Given the description of an element on the screen output the (x, y) to click on. 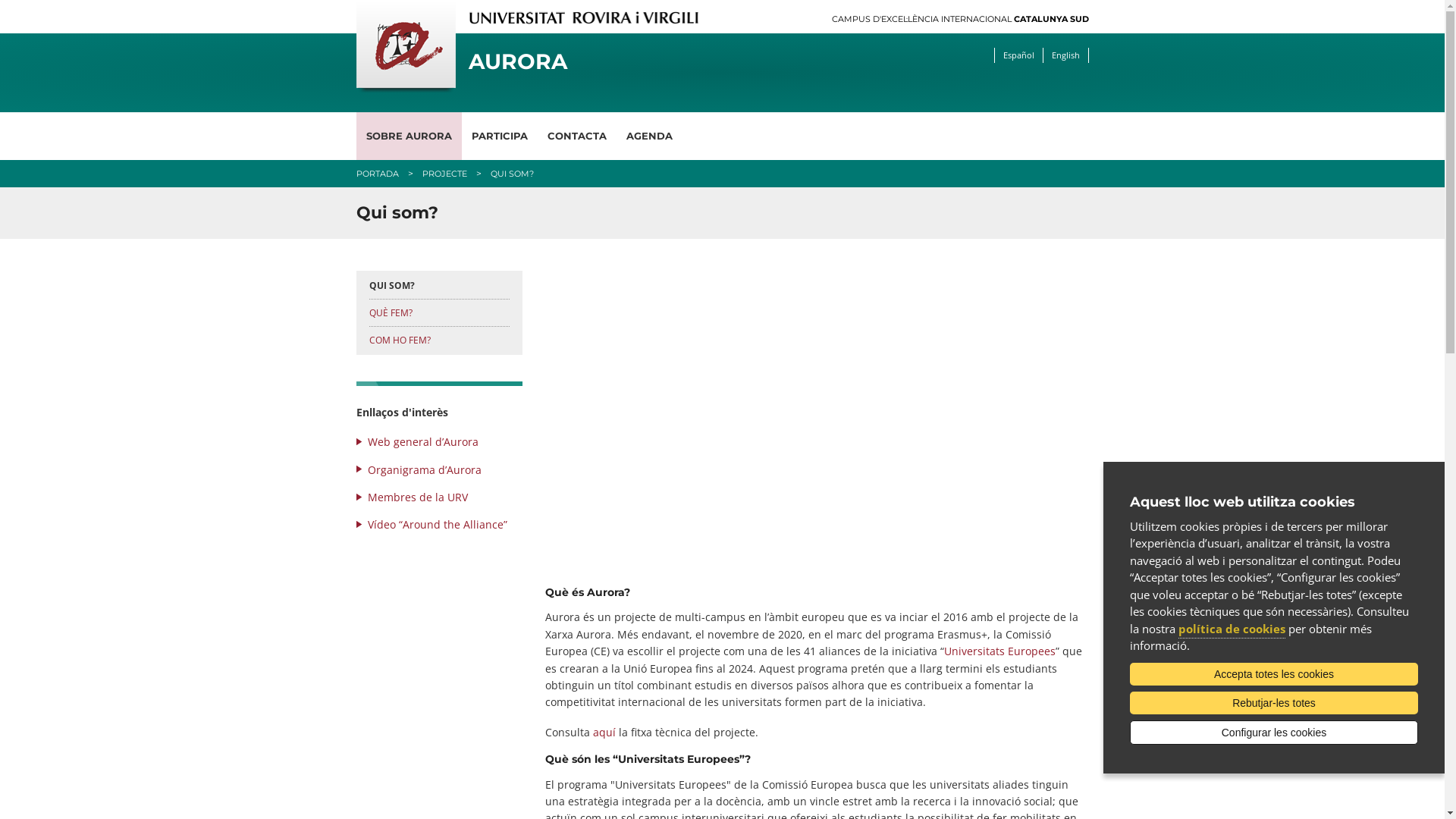
Configurar les cookies Element type: text (1273, 732)
AGENDA Element type: text (648, 136)
Rebutjar-les totes Element type: text (1273, 702)
Membres de la URV Element type: text (417, 496)
Accepta totes les cookies Element type: text (1273, 673)
SOBRE AURORA Element type: text (408, 136)
Universitats Europees Element type: text (998, 650)
CONTACTA Element type: text (575, 136)
AURORA Element type: text (628, 61)
PORTADA Element type: text (377, 173)
English Element type: text (1065, 54)
PARTICIPA Element type: text (498, 136)
PROJECTE Element type: text (443, 173)
COM HO FEM? Element type: text (398, 339)
